Given the description of an element on the screen output the (x, y) to click on. 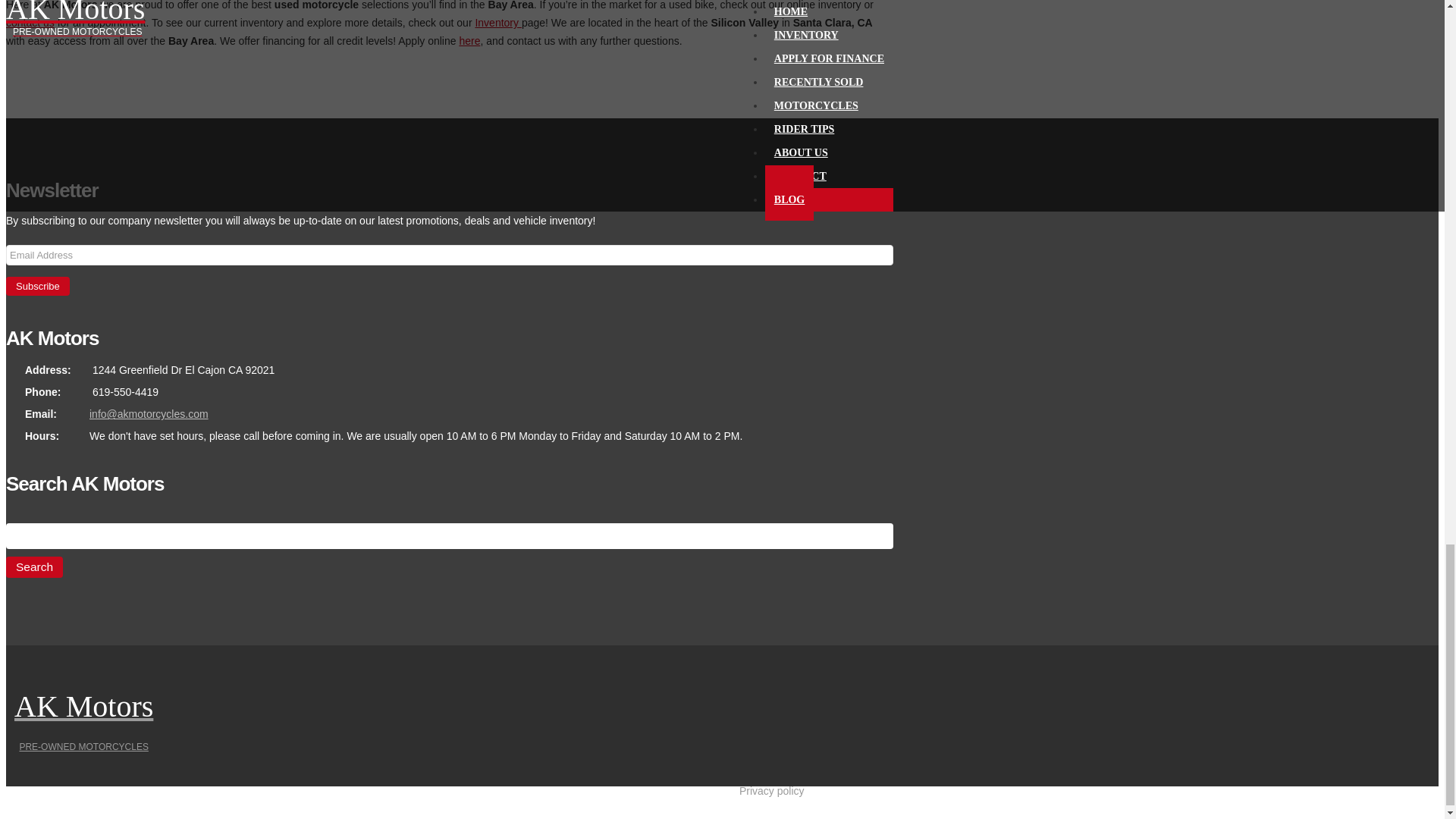
Search (33, 567)
here (469, 40)
Subscribe (37, 285)
Search (33, 567)
contact us (30, 22)
Inventory (497, 22)
